Given the description of an element on the screen output the (x, y) to click on. 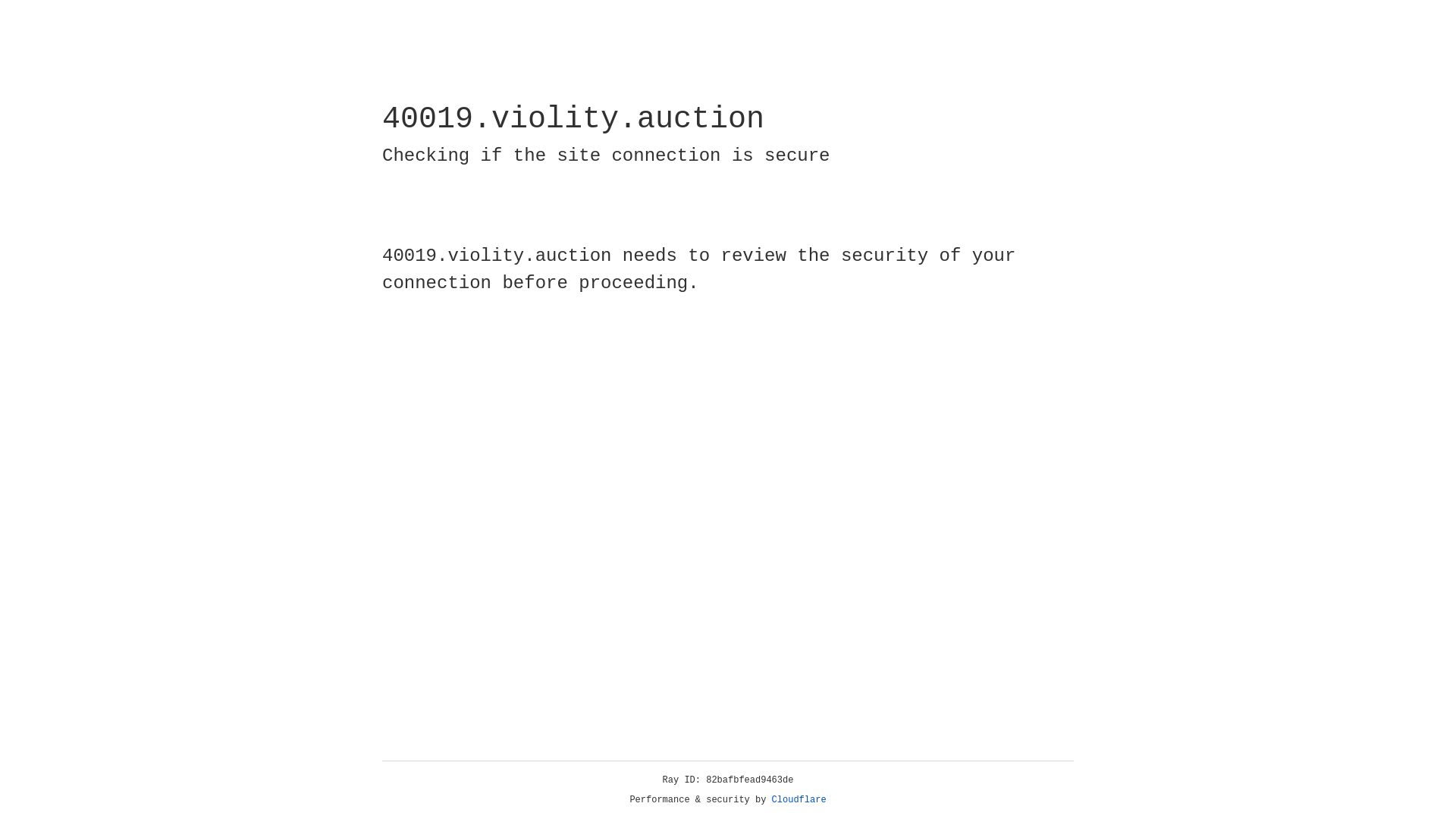
Cloudflare Element type: text (798, 799)
